Given the description of an element on the screen output the (x, y) to click on. 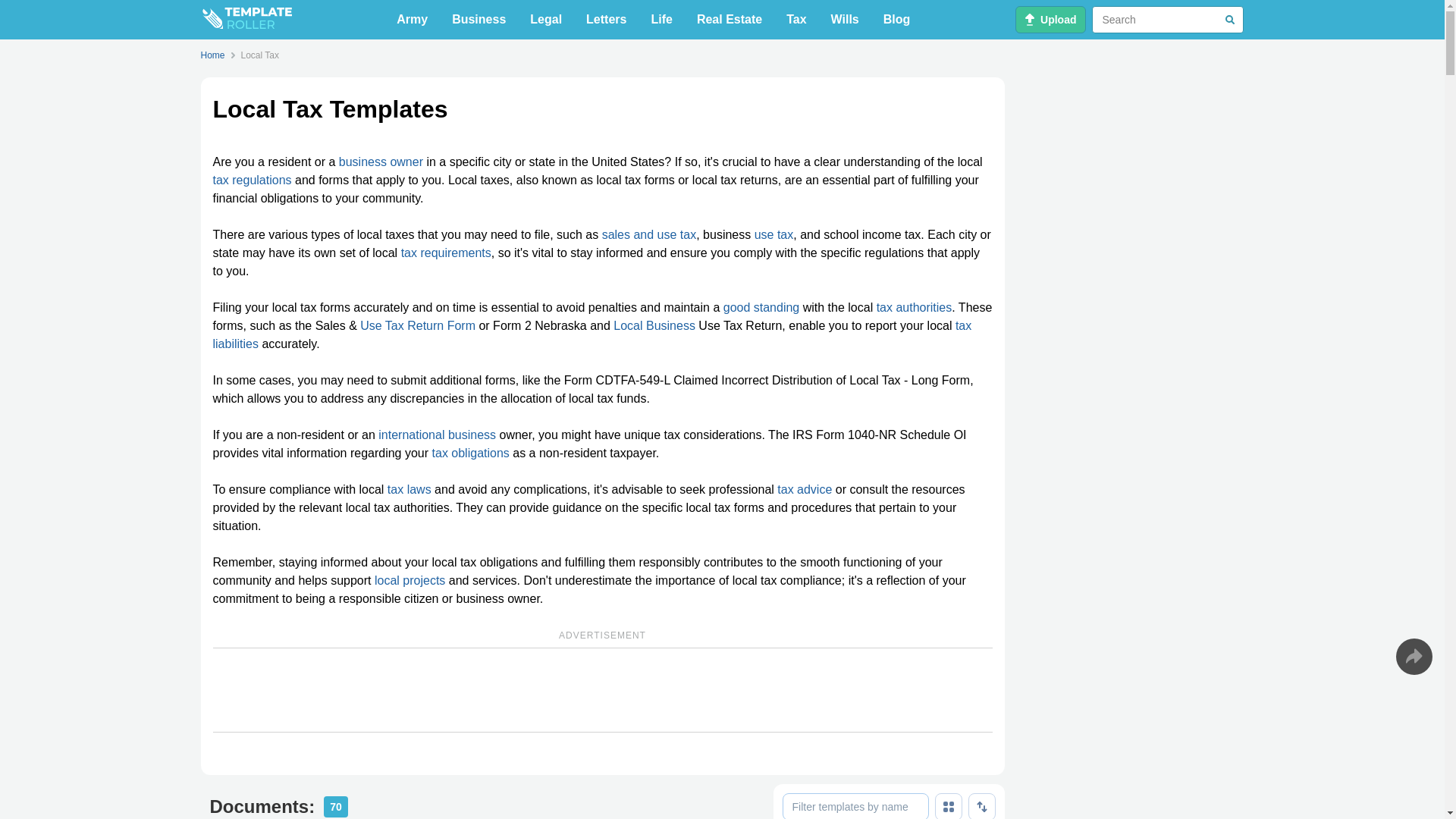
sales and use tax (649, 234)
Army (411, 19)
tax requirements (446, 252)
use tax (773, 234)
local projects (409, 580)
Life (661, 19)
international business (437, 434)
Legal (545, 19)
Wills (844, 19)
tax regulations (251, 179)
tax authorities (914, 307)
Business (478, 19)
Tax (796, 19)
Army (411, 19)
Blog (897, 19)
